Given the description of an element on the screen output the (x, y) to click on. 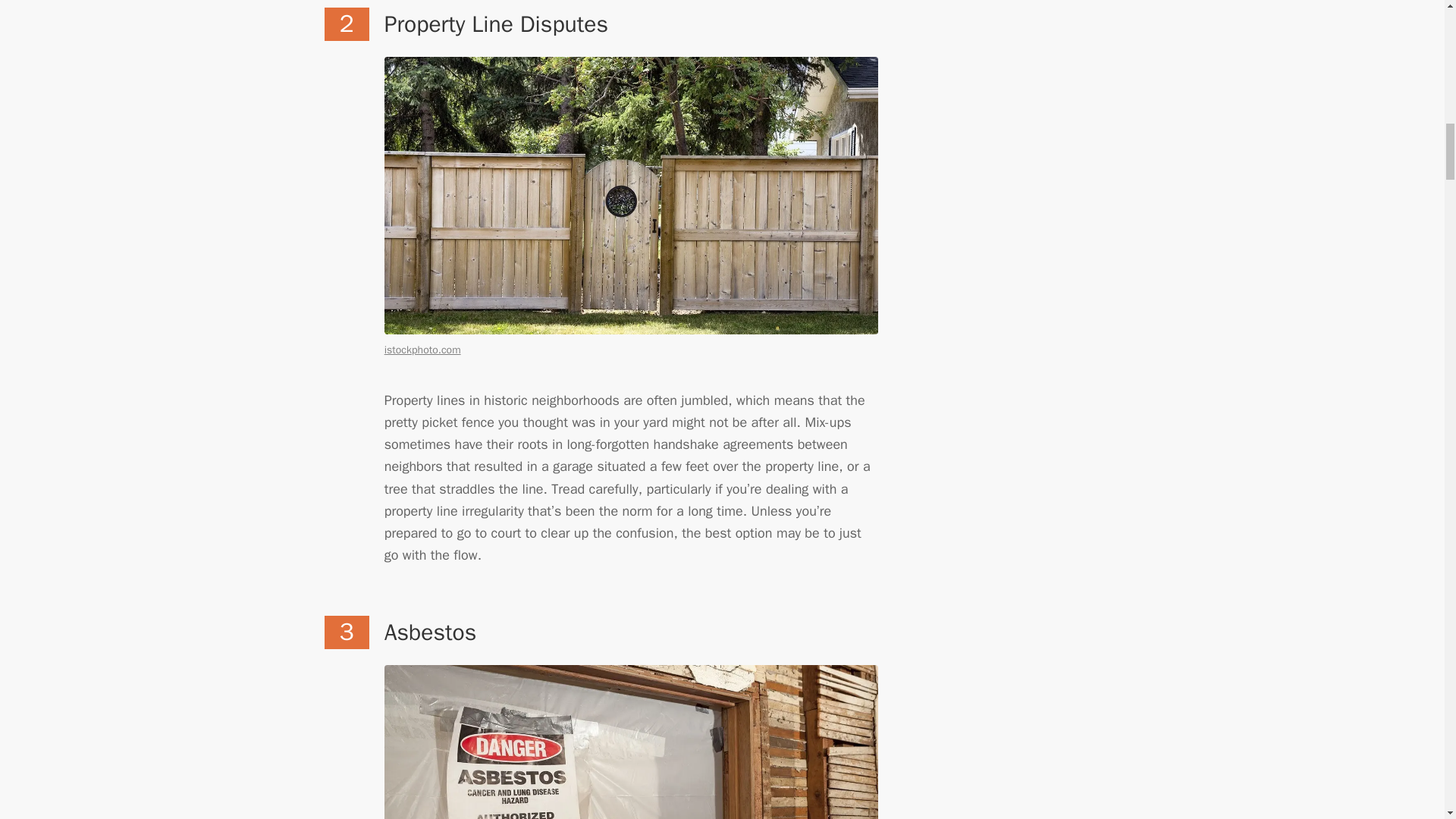
istockphoto.com (422, 349)
